Given the description of an element on the screen output the (x, y) to click on. 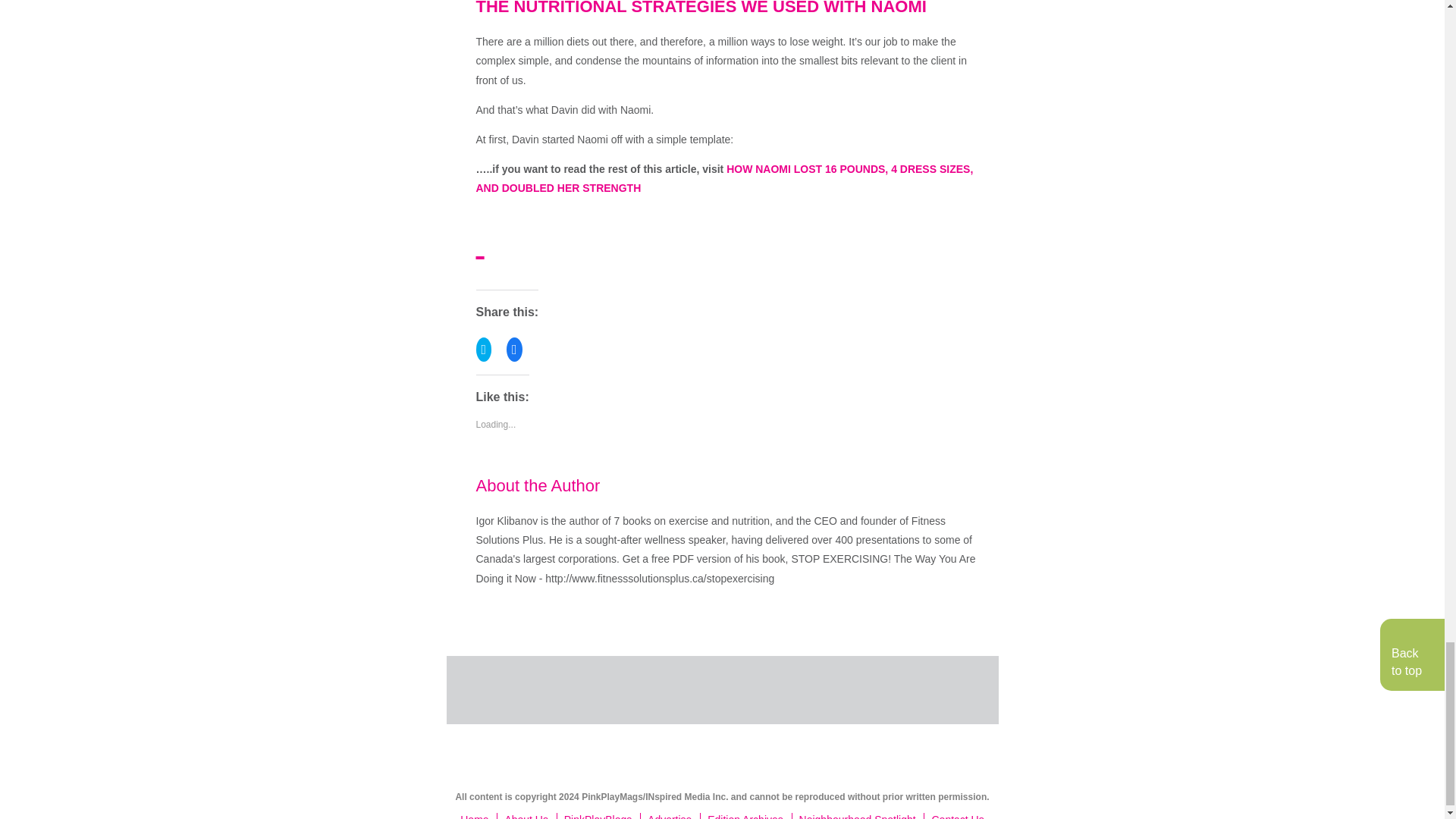
Click to share on Twitter (484, 349)
Click to share on Facebook (514, 349)
